Given the description of an element on the screen output the (x, y) to click on. 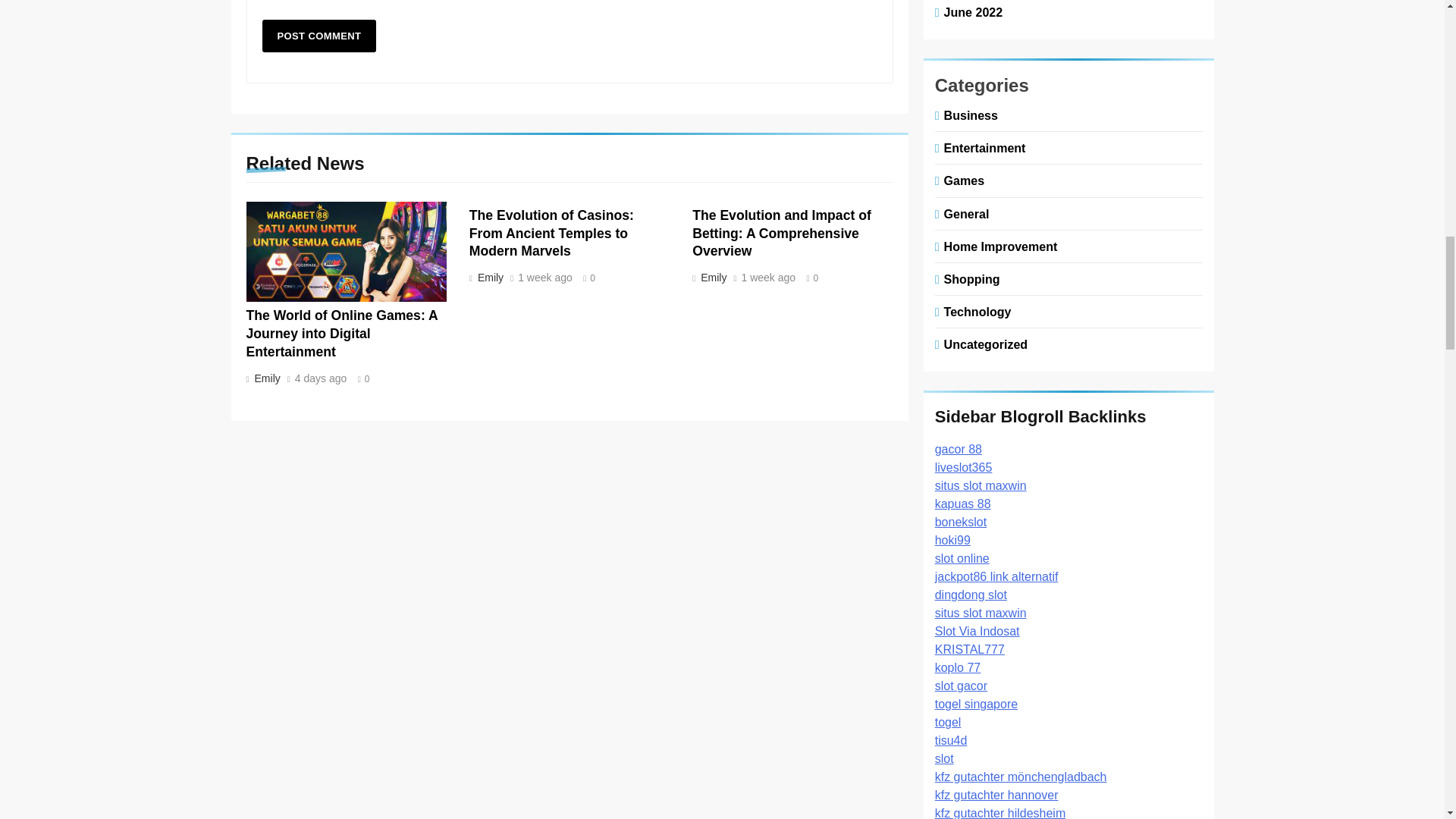
Emily (265, 378)
1 week ago (545, 277)
Emily (712, 277)
4 days ago (321, 378)
Emily (488, 277)
Post Comment (319, 35)
1 week ago (768, 277)
